Given the description of an element on the screen output the (x, y) to click on. 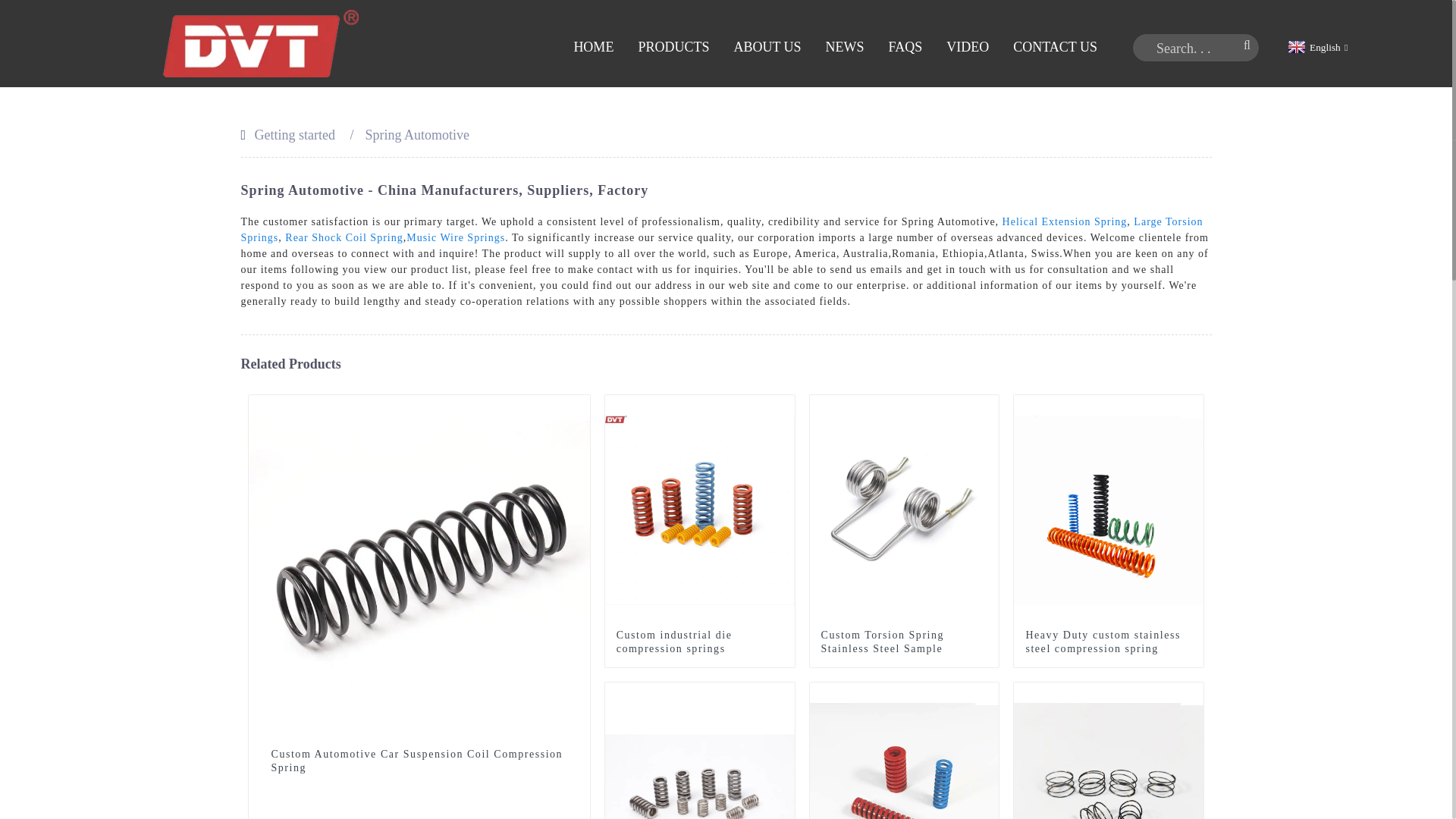
Custom Automotive Car Suspension Coil Compression Spring (418, 760)
Heavy Duty custom stainless steel compression spring (1108, 642)
Mechanical Springs (782, 693)
Music Wire Springs (455, 237)
Heavy Duty custom stainless steel compression spring (1108, 508)
Helical Extension Spring (1064, 221)
Custom industrial die compression springs (699, 642)
Custom Torsion Spring Stainless Steel Sample Accepted (904, 648)
English (1316, 46)
Custom-Torsion-Spring-Stainless-Steel-Sample-Accepted3 (986, 405)
